Given the description of an element on the screen output the (x, y) to click on. 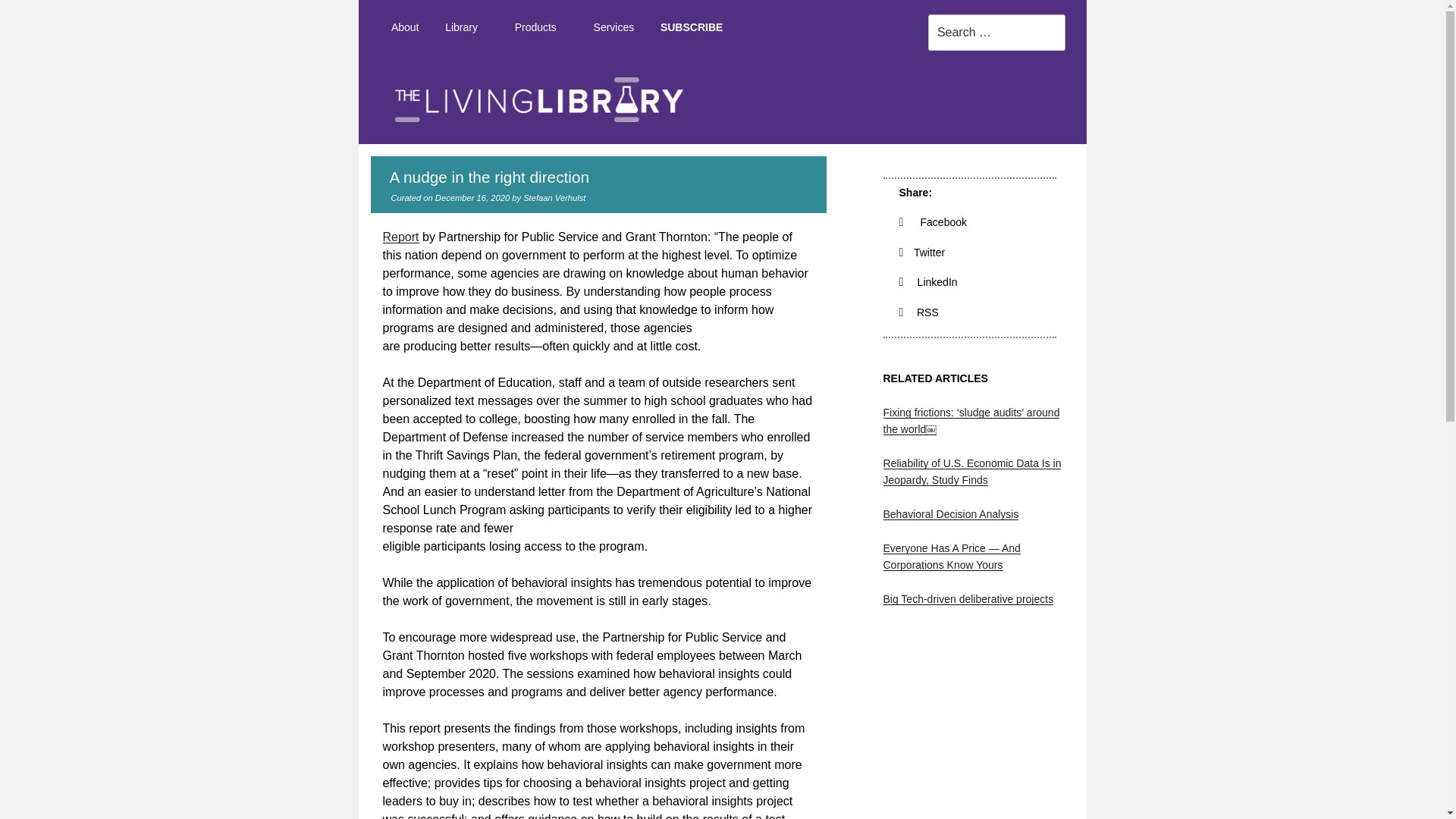
Behavioral Decision Analysis (949, 513)
SUBSCRIBE (692, 27)
Big Tech-driven deliberative projects (967, 598)
Stefaan Verhulst (553, 197)
LinkedIn (928, 282)
Twitter (921, 252)
RSS (919, 312)
Services (612, 27)
Products (540, 27)
THE LIVING LIBRARY (1117, 158)
